Given the description of an element on the screen output the (x, y) to click on. 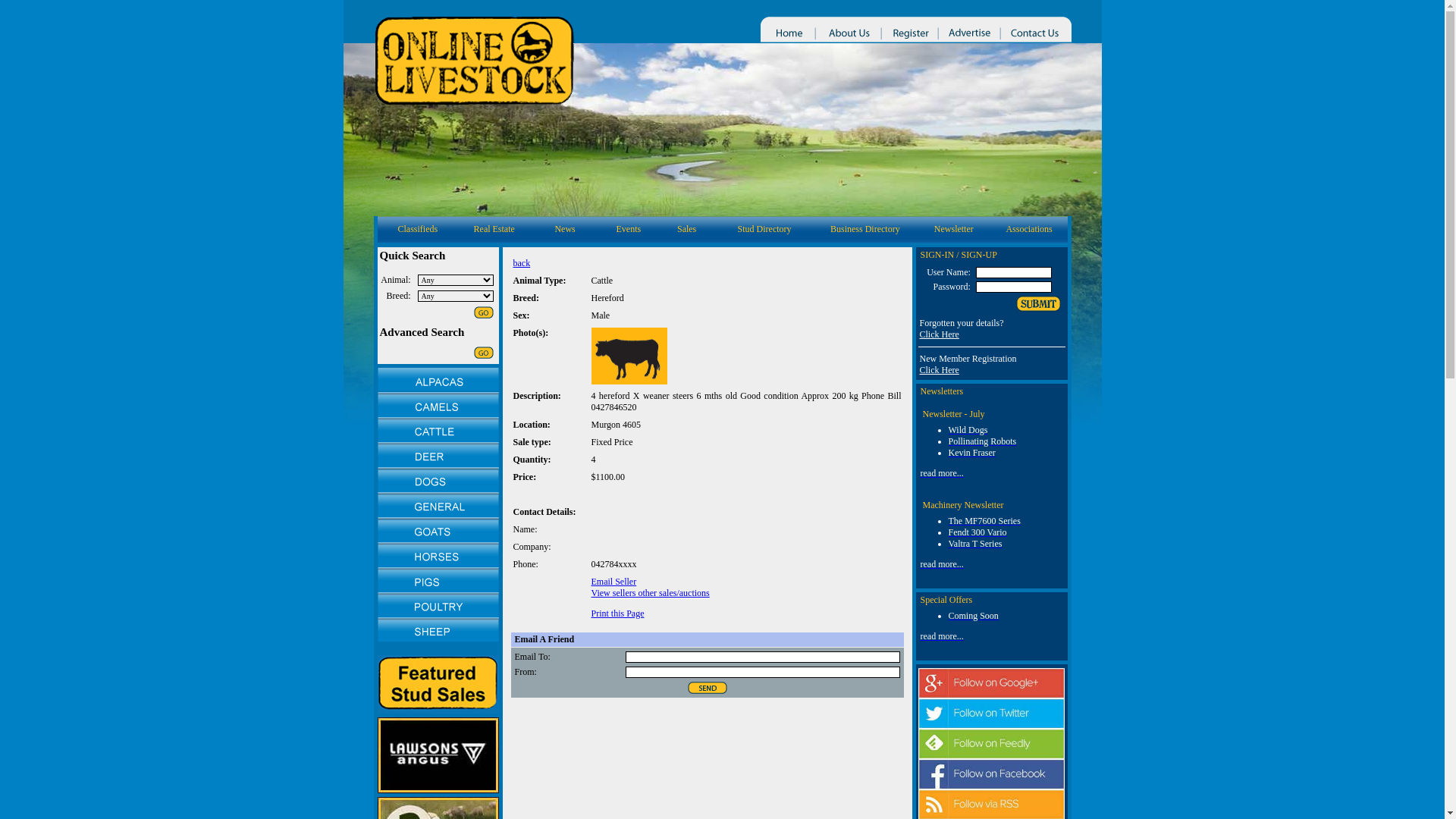
News Element type: text (564, 228)
Email Seller Element type: text (614, 581)
Real Estate Element type: text (493, 228)
Stud Directory Element type: text (764, 228)
The MF7600 Series Element type: text (983, 520)
read more... Element type: text (941, 635)
Fendt 300 Vario Element type: text (976, 532)
back Element type: text (521, 262)
Associations Element type: text (1028, 228)
Click Here Element type: text (938, 334)
Print this Page Element type: text (617, 613)
Click Here Element type: text (938, 369)
read more... Element type: text (941, 472)
Valtra T Series Element type: text (974, 543)
Newsletter Element type: text (953, 228)
read more... Element type: text (941, 563)
Coming Soon Element type: text (972, 615)
Pollinating Robots Element type: text (981, 441)
Events Element type: text (628, 228)
Kevin Fraser Element type: text (970, 452)
Sales Element type: text (686, 228)
View sellers other sales/auctions Element type: text (650, 592)
Classifieds Element type: text (417, 228)
Wild Dogs Element type: text (967, 429)
Business Directory Element type: text (865, 228)
